Given the description of an element on the screen output the (x, y) to click on. 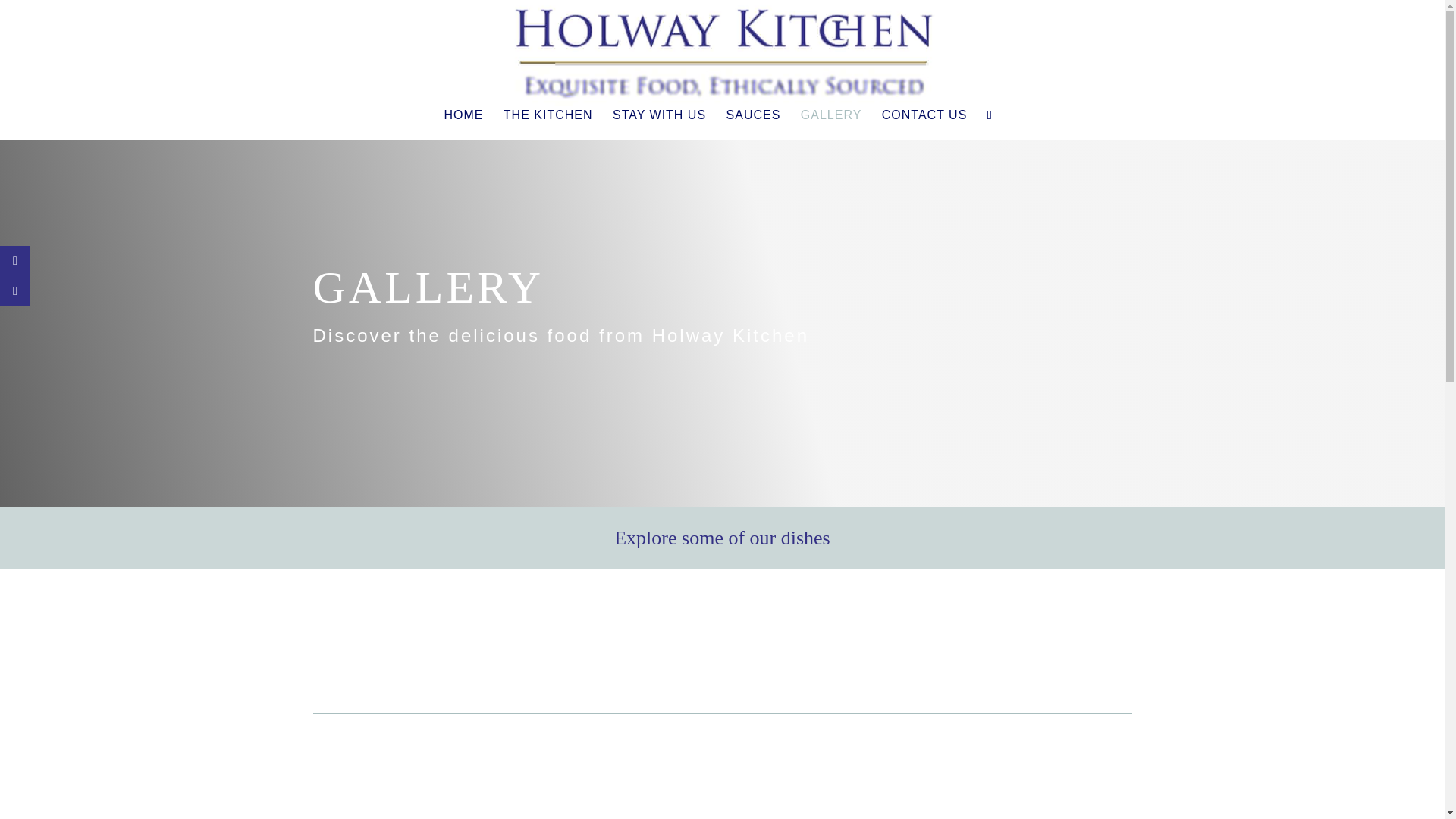
GALLERY (830, 124)
HOME (463, 124)
STAY WITH US (659, 124)
CONTACT US (925, 124)
THE KITCHEN (547, 124)
SAUCES (753, 124)
